Given the description of an element on the screen output the (x, y) to click on. 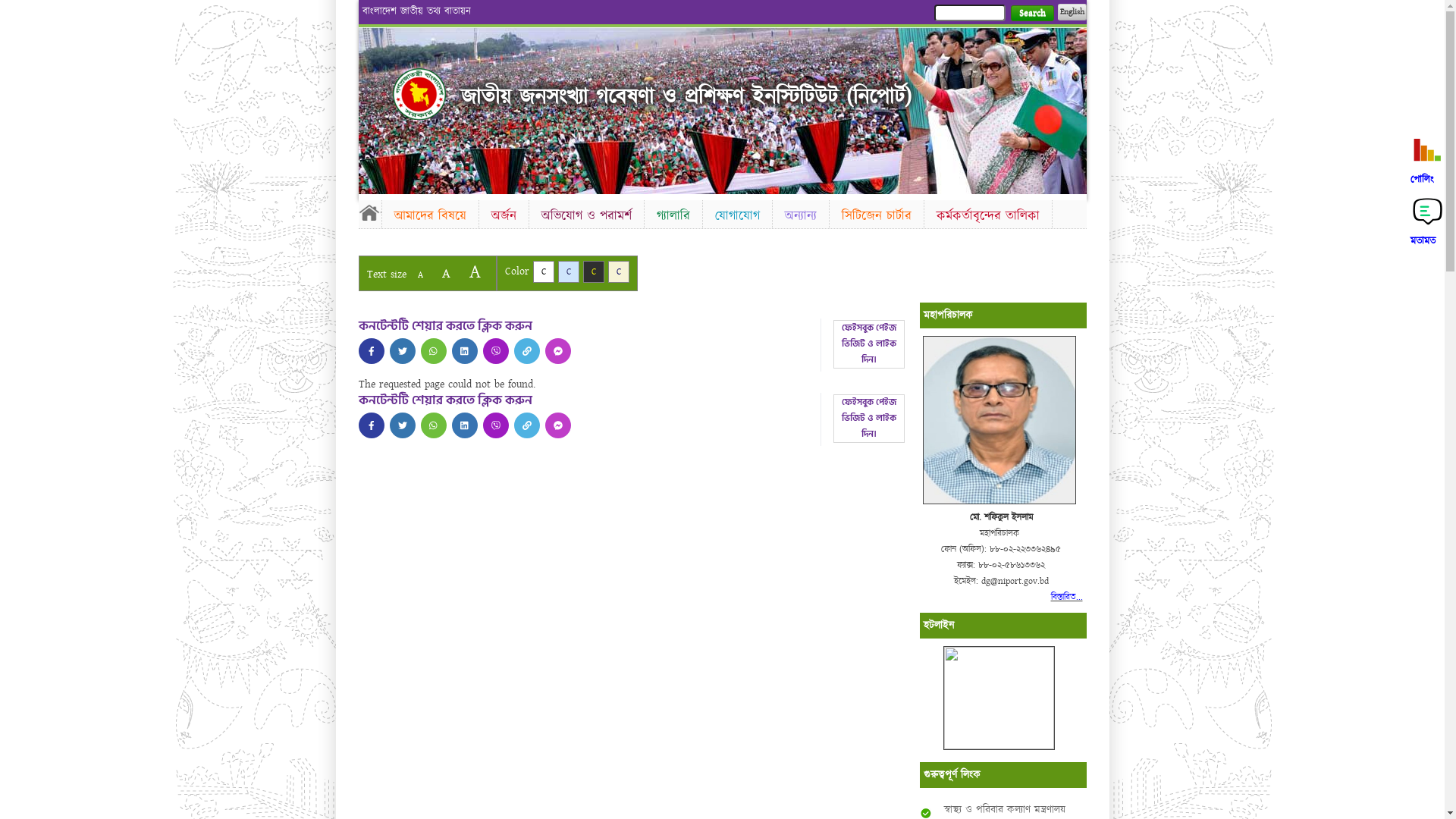
English Element type: text (1071, 11)
Home Element type: hover (368, 211)
Search Element type: text (1031, 13)
C Element type: text (592, 271)
C Element type: text (568, 271)
C Element type: text (618, 271)
A Element type: text (445, 273)
C Element type: text (542, 271)
Home Element type: hover (418, 93)
A Element type: text (474, 271)
A Element type: text (419, 274)
